Given the description of an element on the screen output the (x, y) to click on. 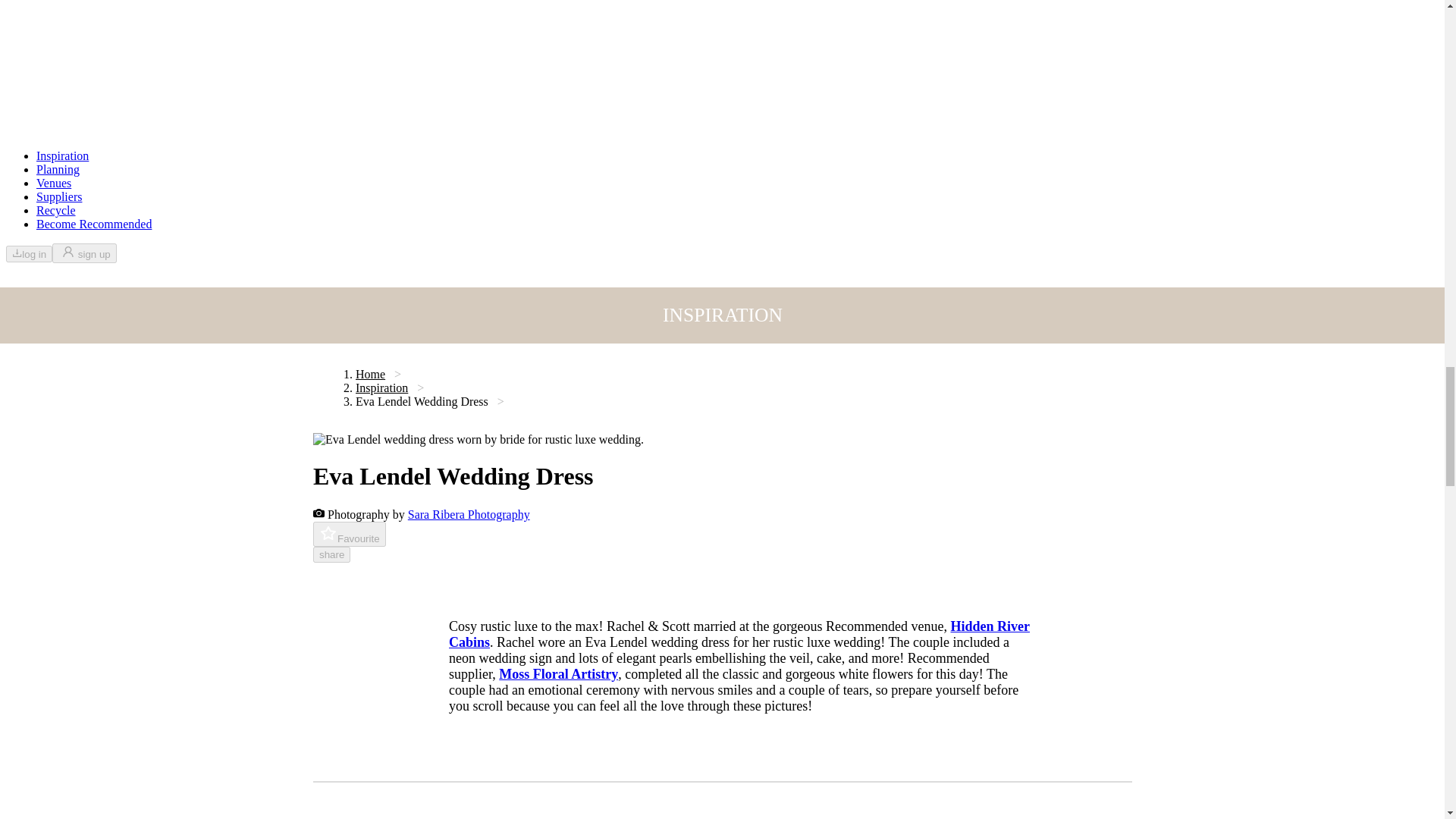
share (331, 554)
Recycle (55, 210)
Become Recommended (93, 223)
Suppliers (58, 196)
Sara Ribera Photography (468, 513)
Home (369, 373)
Venues (53, 182)
Favourite (349, 534)
Hidden River Cabins (738, 634)
sign up (84, 252)
